Given the description of an element on the screen output the (x, y) to click on. 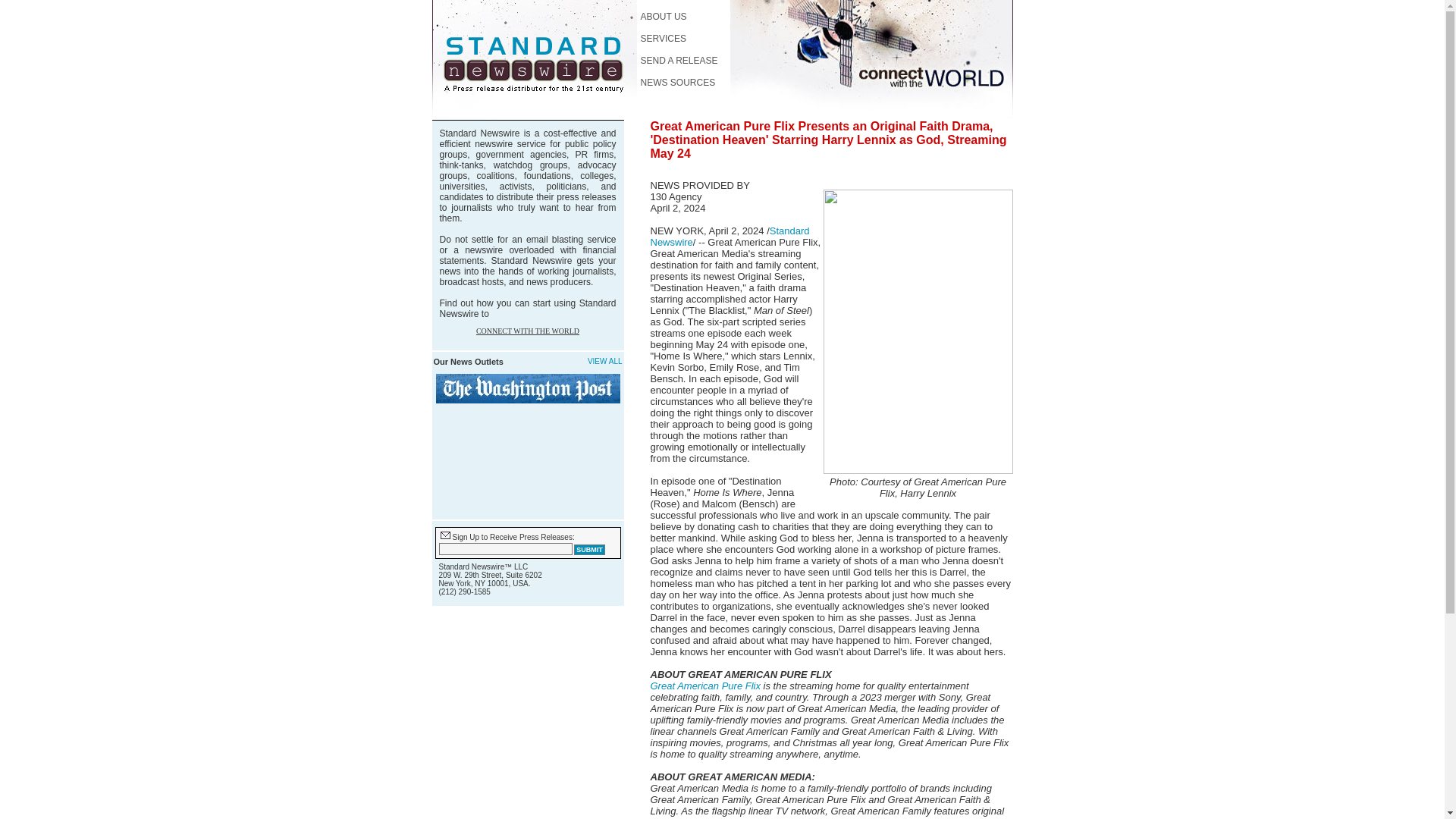
SUBMIT (589, 549)
The Washington Post (527, 388)
NEWS SOURCES (677, 81)
VIEW ALL (605, 361)
Standard Newswire (729, 236)
SERVICES (662, 38)
CONNECT WITH THE WORLD (527, 330)
Great American Pure Flix (705, 685)
SEND A RELEASE (678, 60)
ABOUT US (662, 16)
